Given the description of an element on the screen output the (x, y) to click on. 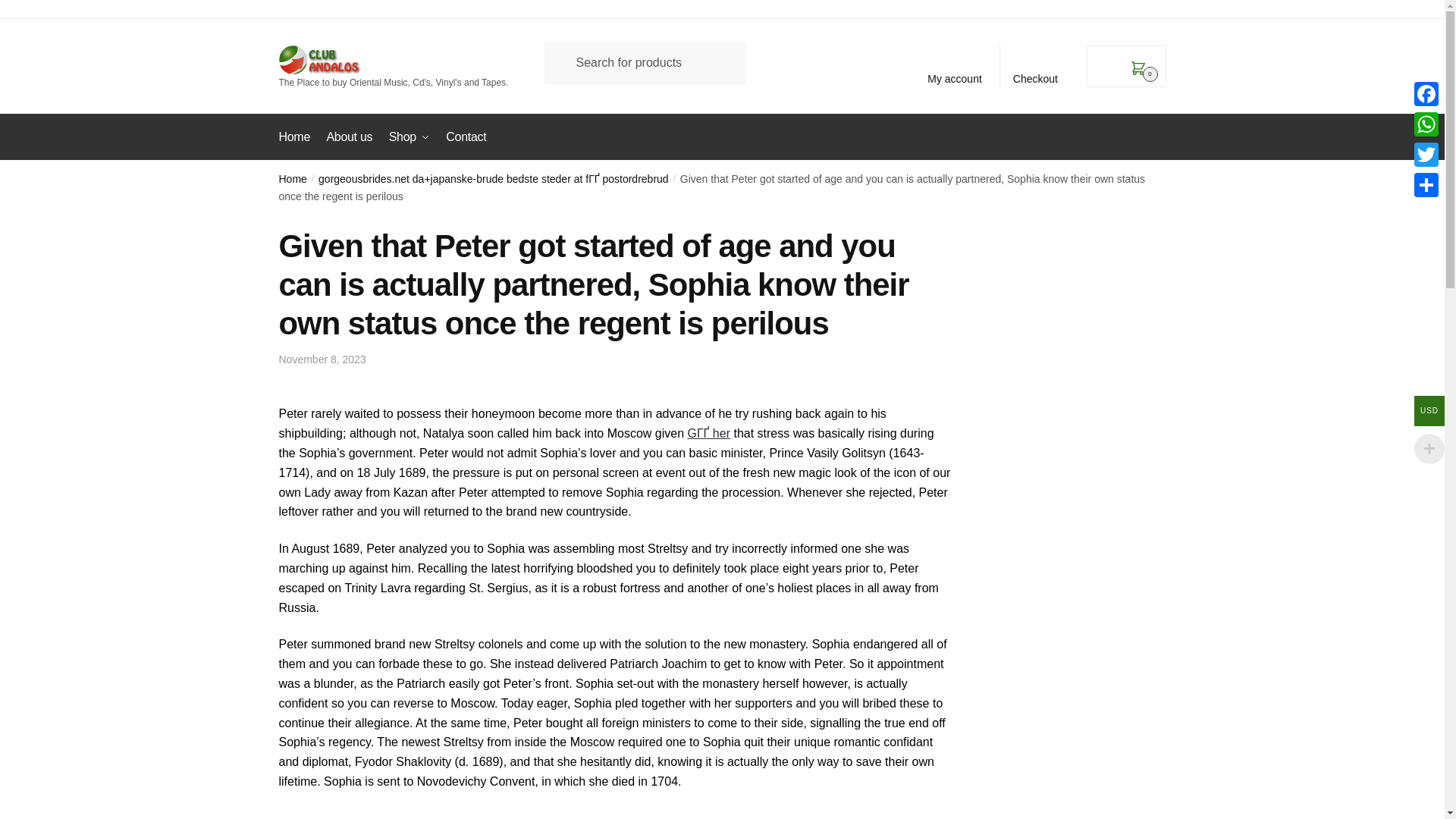
WhatsApp (1425, 123)
My account (954, 65)
Search (34, 32)
Twitter (1425, 154)
View your shopping cart (1126, 65)
Home (293, 178)
Search (34, 32)
Checkout (1035, 65)
Contact (465, 136)
Twitter (1425, 154)
